Given the description of an element on the screen output the (x, y) to click on. 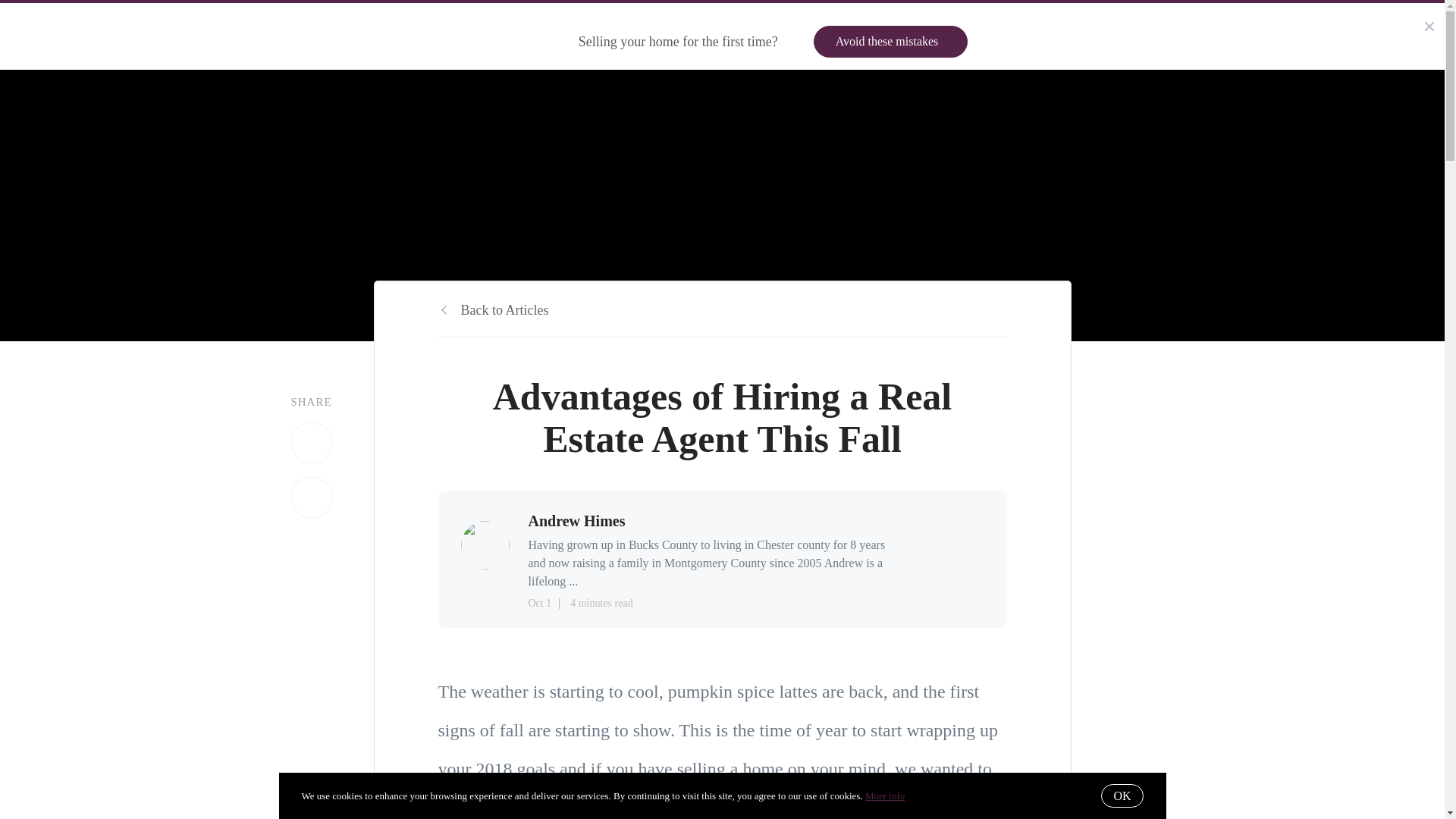
Avoid these mistakes (890, 41)
Back to Articles (493, 309)
